Given the description of an element on the screen output the (x, y) to click on. 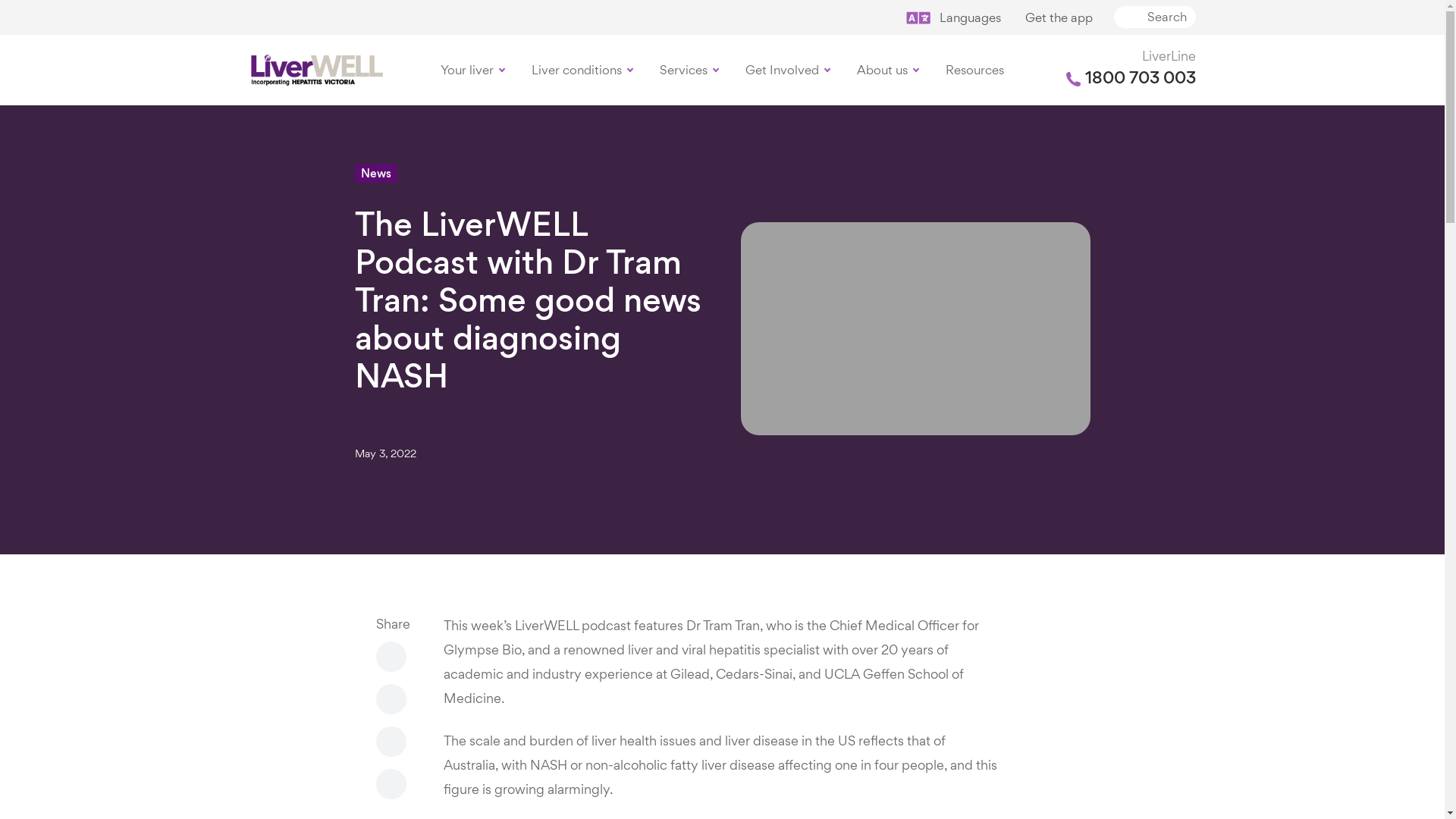
News Element type: text (375, 172)
LiverWELL Element type: hover (315, 69)
Languages Element type: text (954, 18)
Liver conditions Element type: text (581, 69)
About us Element type: text (887, 69)
Get the app Element type: text (1058, 18)
Resources Element type: text (974, 69)
Your liver Element type: text (472, 69)
Get Involved Element type: text (787, 69)
Services Element type: text (688, 69)
1800 703 003 Element type: text (1130, 79)
